Given the description of an element on the screen output the (x, y) to click on. 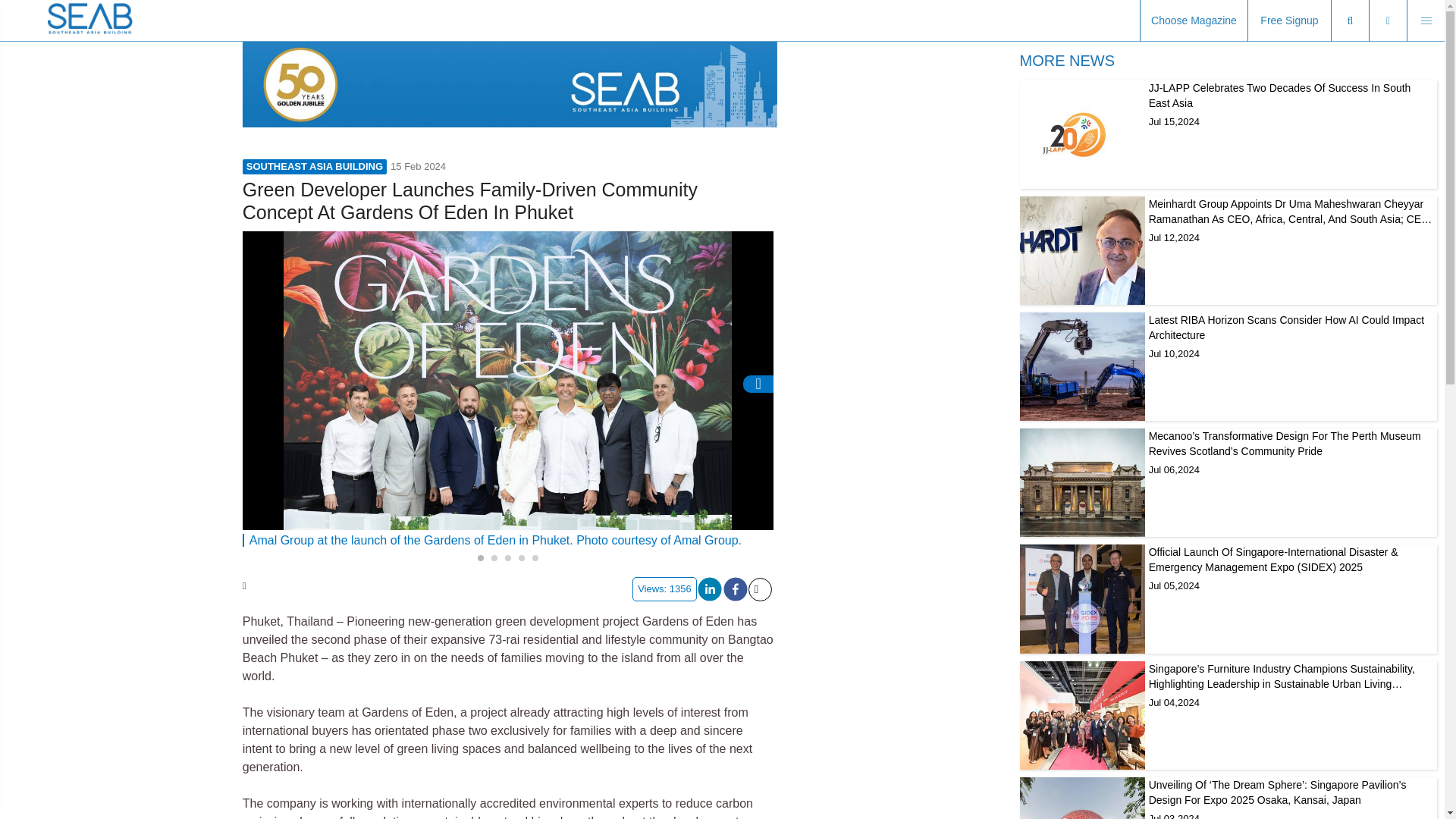
SOUTHEAST ASIA BUILDING (315, 166)
Free Signup (1288, 20)
Choose Magazine (1193, 20)
